Given the description of an element on the screen output the (x, y) to click on. 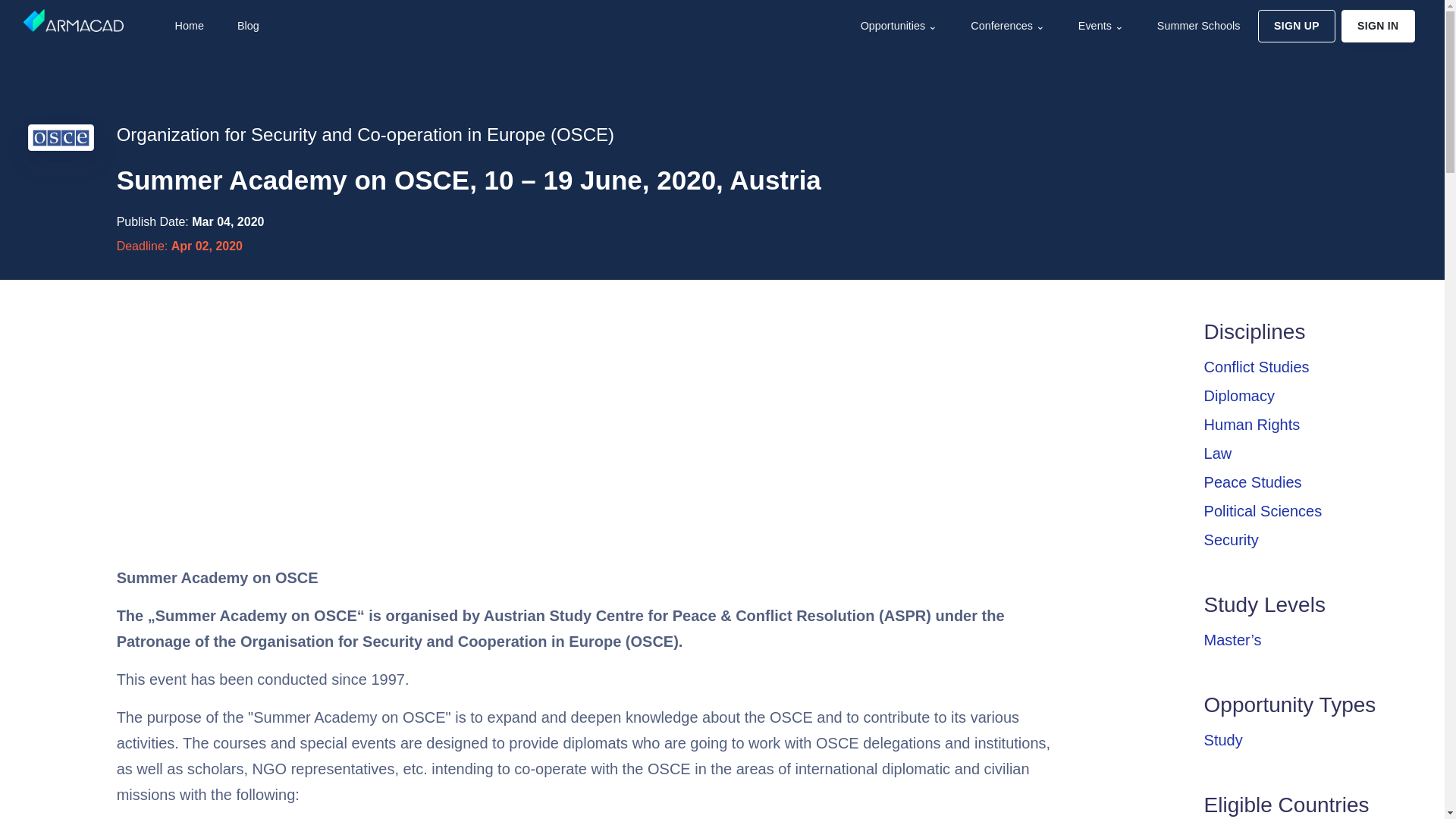
Home (186, 25)
SIGN UP (1296, 25)
ARMACAD Home Page (186, 25)
The ARMACAD Blog (246, 25)
ARMACAD Home Page (73, 20)
SIGN IN (1377, 25)
Summer Schools (1196, 25)
Blog (246, 25)
